Given the description of an element on the screen output the (x, y) to click on. 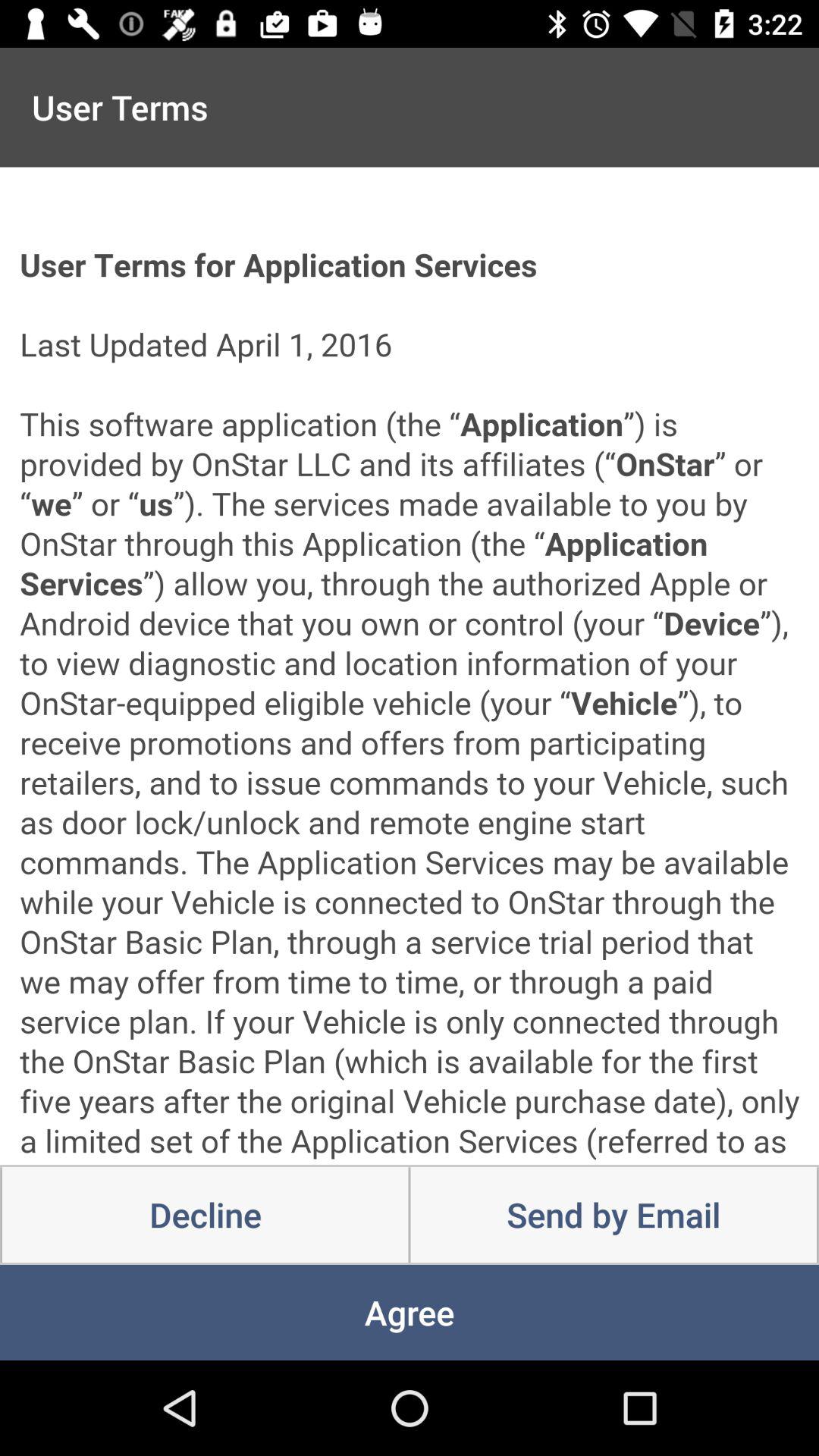
turn on item to the right of the decline (613, 1214)
